Given the description of an element on the screen output the (x, y) to click on. 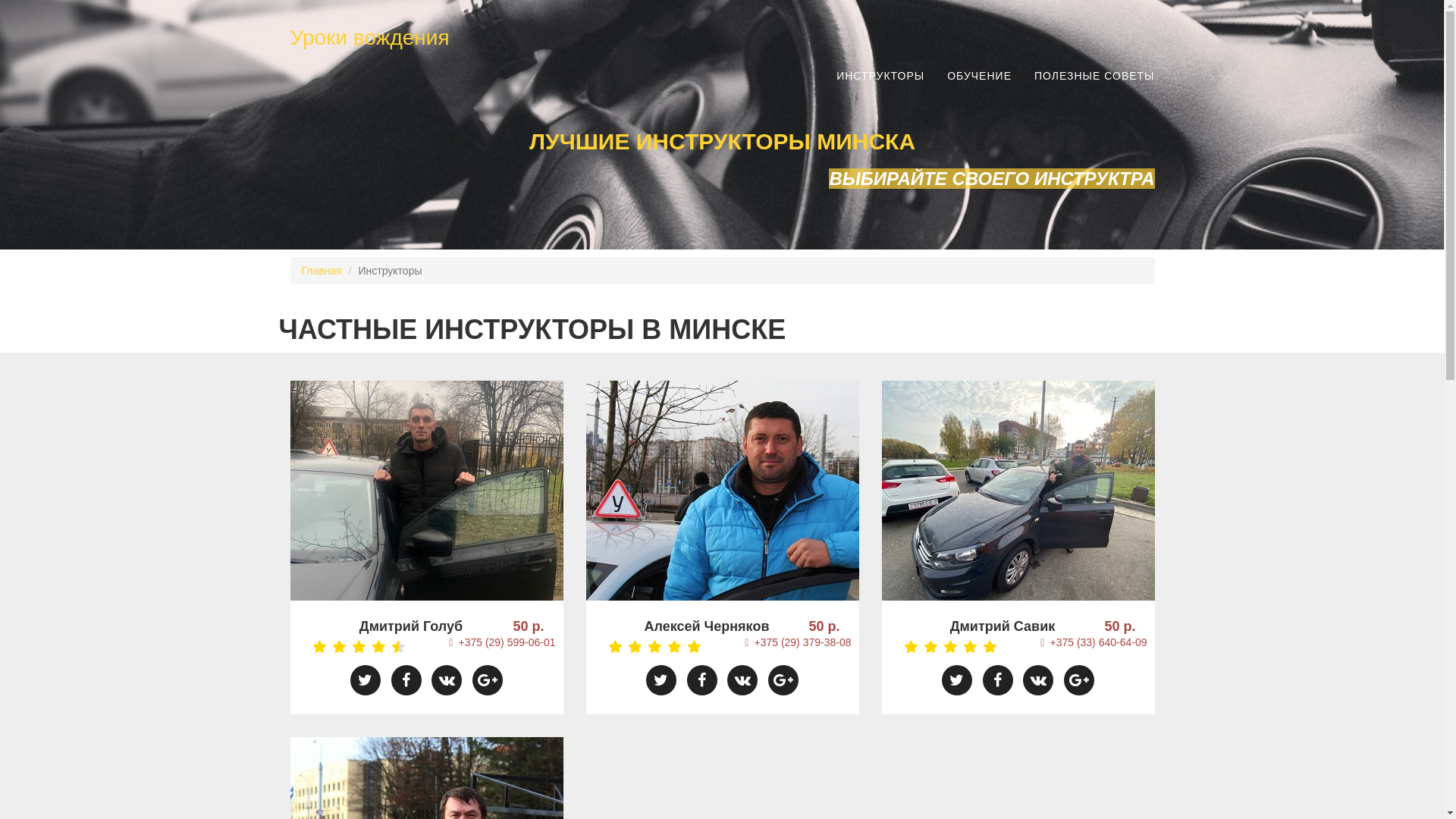
Facebook Element type: hover (702, 680)
Twitter Element type: hover (365, 680)
Twitter Element type: hover (661, 680)
Facebook Element type: hover (997, 680)
VK Element type: hover (1038, 680)
VK Element type: hover (742, 680)
Google+ Element type: hover (1079, 680)
5,00 stars Element type: hover (647, 649)
Facebook Element type: hover (406, 680)
Google+ Element type: hover (783, 680)
5,00 stars Element type: hover (943, 649)
Google+ Element type: hover (487, 680)
4,40 stars Element type: hover (352, 649)
+375 (29) 379-38-08 Element type: text (797, 641)
Twitter Element type: hover (956, 680)
VK Element type: hover (446, 680)
+375 (33) 640-64-09 Element type: text (1093, 641)
+375 (29) 599-06-01 Element type: text (501, 641)
